Given the description of an element on the screen output the (x, y) to click on. 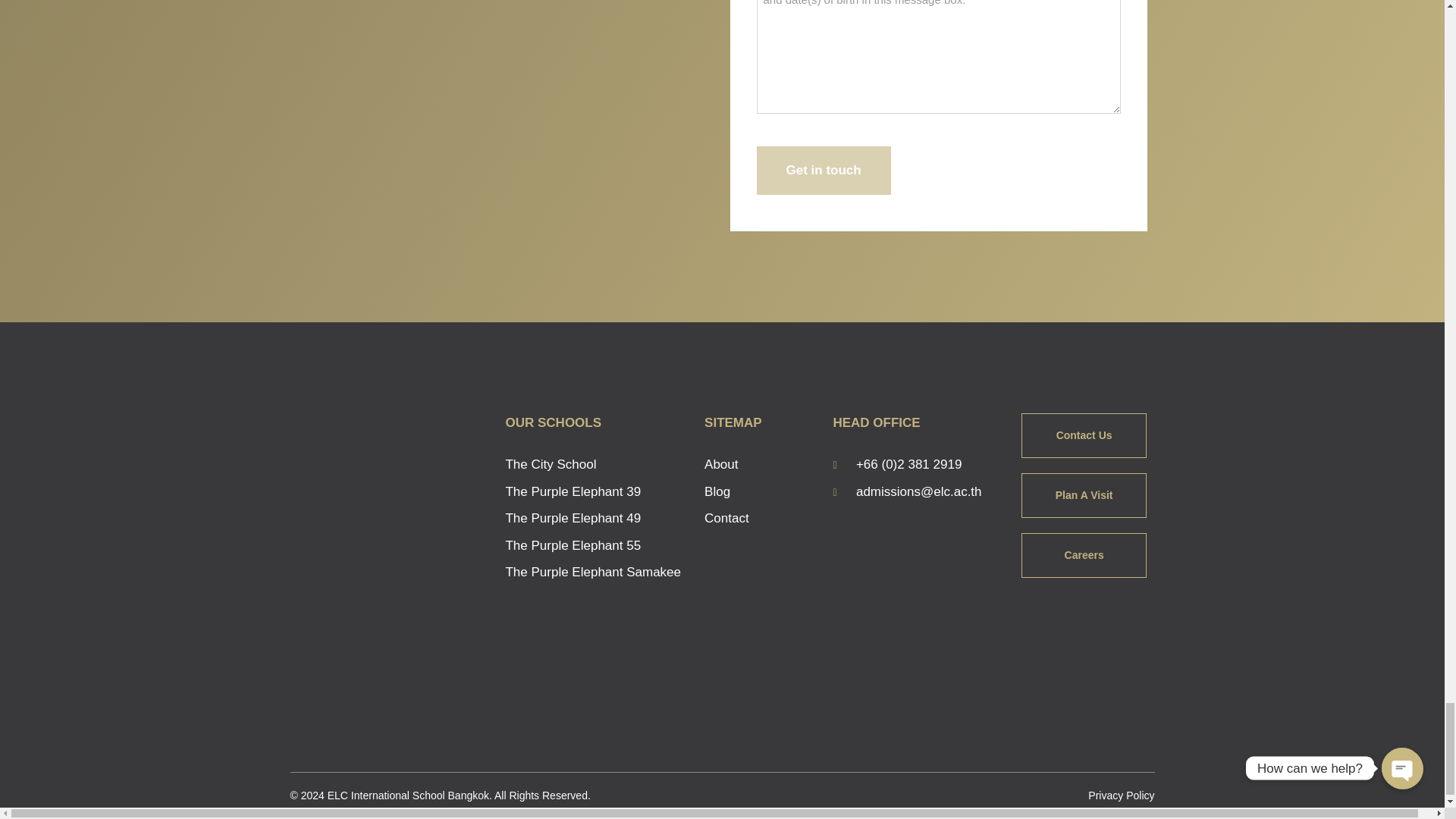
The Purple Elephant 49 (596, 518)
Get in touch (824, 170)
Get in touch (824, 170)
logo-OneSOA (433, 602)
Blog (760, 492)
The Purple Elephant Samakee (596, 572)
The Purple Elephant 39 (596, 492)
logo-WACC (342, 676)
The Purple Elephant 55 (596, 546)
About (760, 465)
The City School (596, 465)
